Given the description of an element on the screen output the (x, y) to click on. 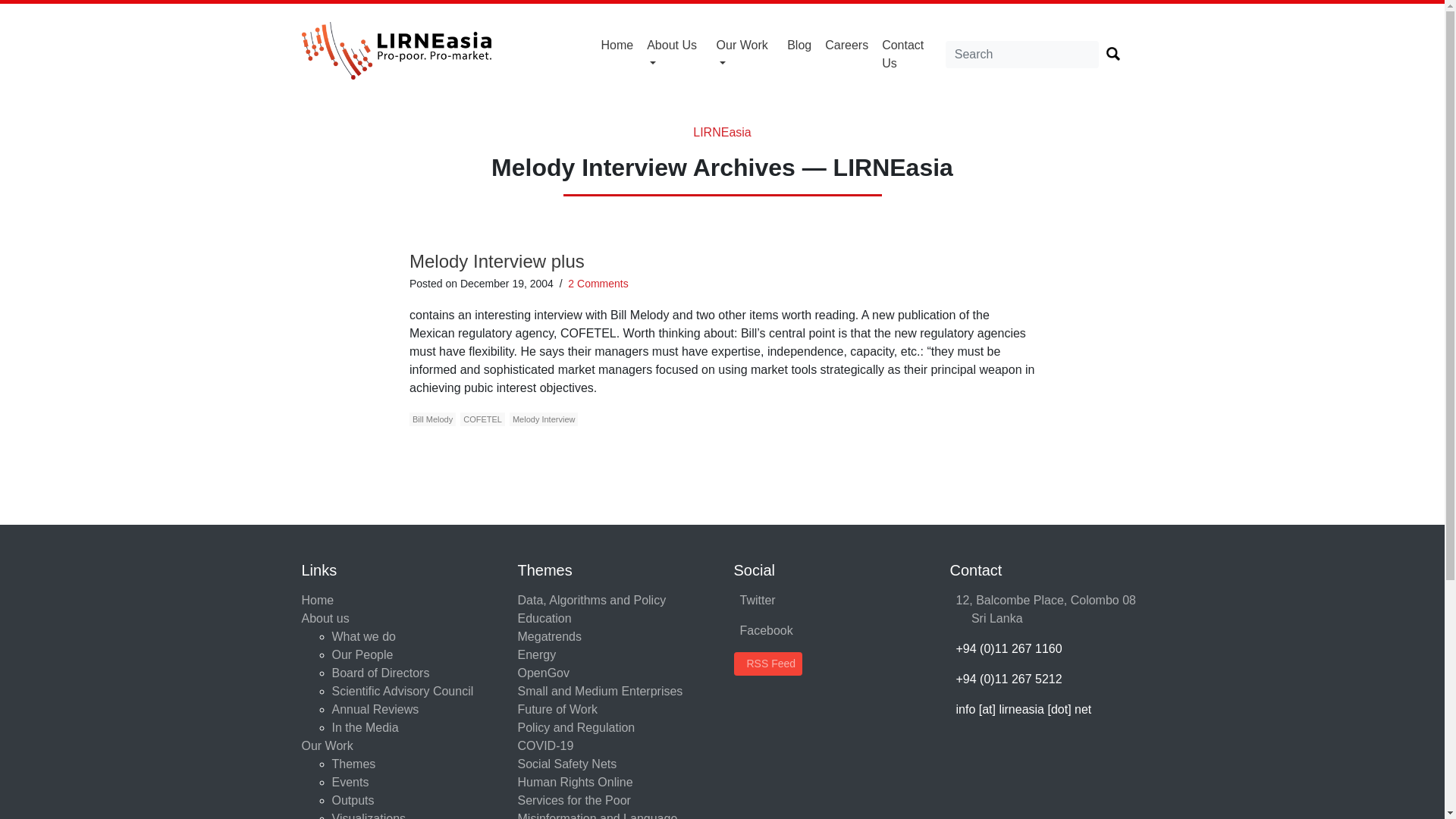
Our Work (745, 54)
About us (674, 54)
Our Work (745, 54)
LIRNEasia (722, 132)
About Us (674, 54)
Careers (846, 45)
Search for: (1021, 53)
Home (617, 45)
Blog (799, 45)
Melody Interview plus (497, 260)
Blog (799, 45)
Home (617, 45)
Careers (846, 45)
Contact Us (909, 54)
2 Comments (597, 283)
